Given the description of an element on the screen output the (x, y) to click on. 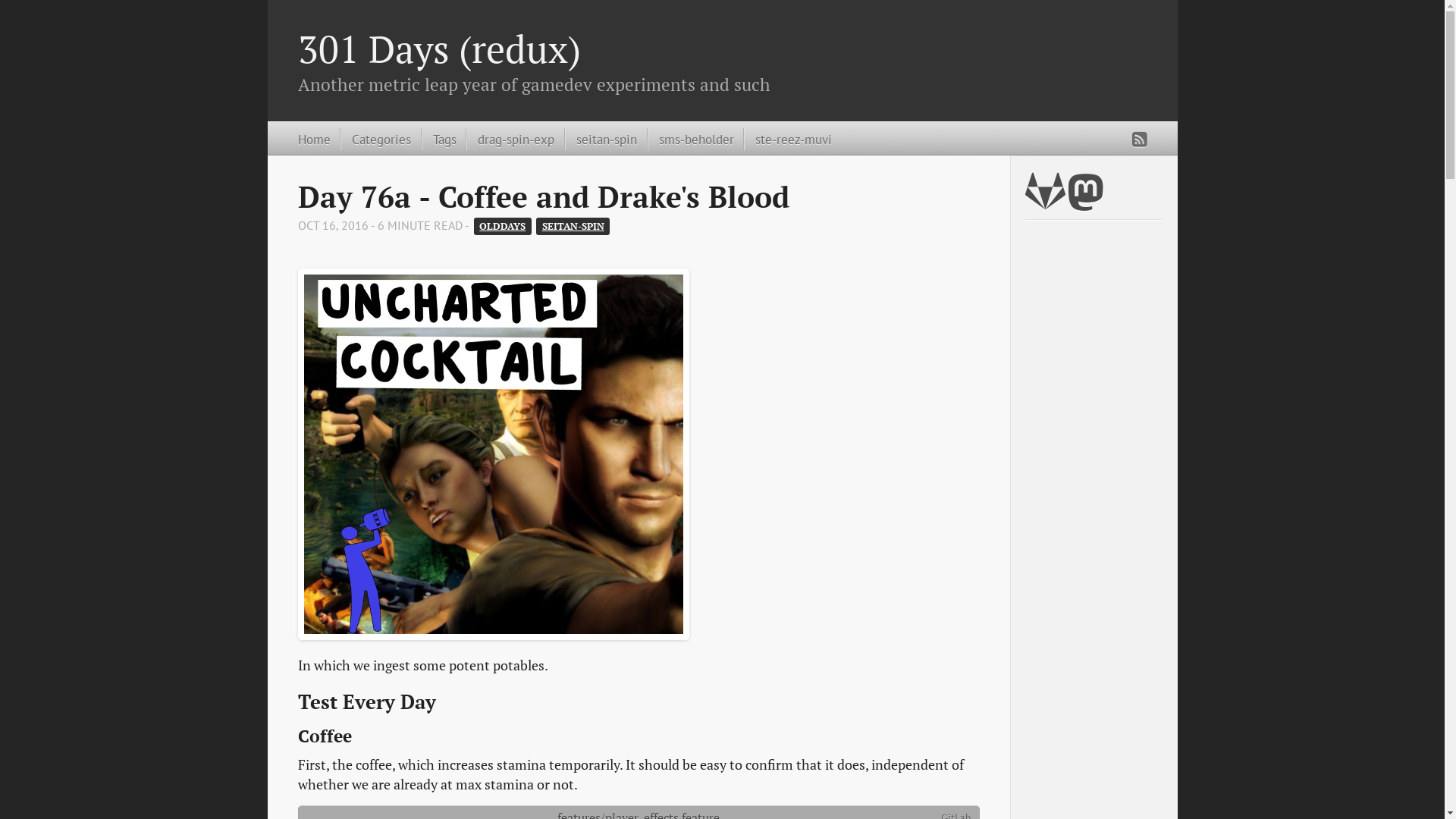
ste-reez-muvi Element type: text (787, 139)
drag-spin-exp Element type: text (510, 139)
https://gitlab.com/LiBiPlJoe Element type: hover (1045, 200)
301 Days (redux) Element type: text (438, 48)
SEITAN-SPIN Element type: text (572, 226)
Home Element type: text (313, 139)
RSS Element type: hover (1138, 139)
https://hachyderm.io/@Joe301 Element type: hover (1084, 200)
Tags Element type: text (438, 139)
sms-beholder Element type: text (690, 139)
Categories Element type: text (375, 139)
seitan-spin Element type: text (600, 139)
Not an endorsement. Element type: hover (492, 454)
OLDDAYS Element type: text (502, 226)
